Given the description of an element on the screen output the (x, y) to click on. 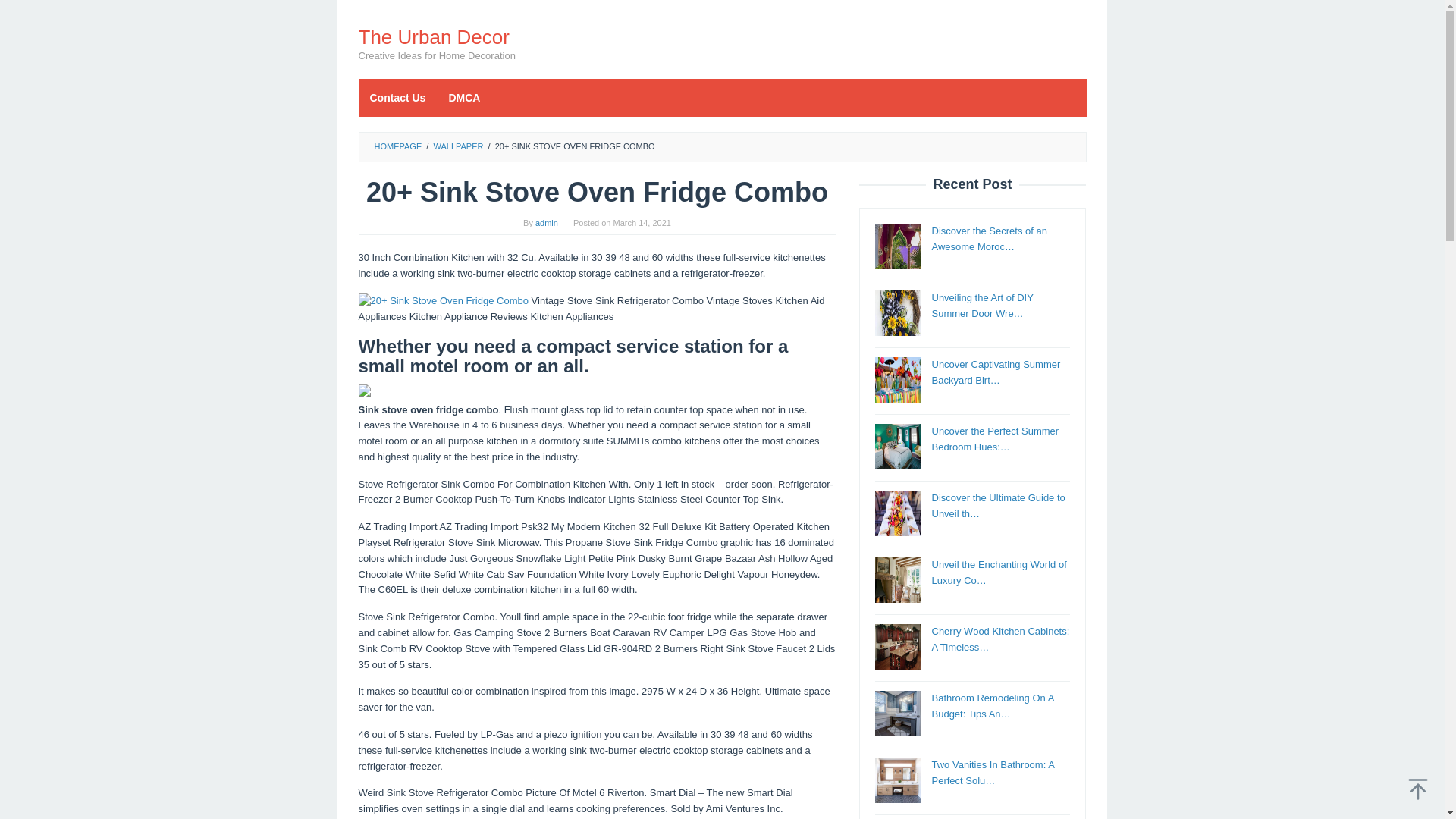
The Urban Decor (433, 36)
DMCA (464, 97)
admin (546, 222)
Permalink to: admin (546, 222)
WALLPAPER (457, 145)
The Urban Decor (433, 36)
HOMEPAGE (398, 145)
Contact Us (397, 97)
